Given the description of an element on the screen output the (x, y) to click on. 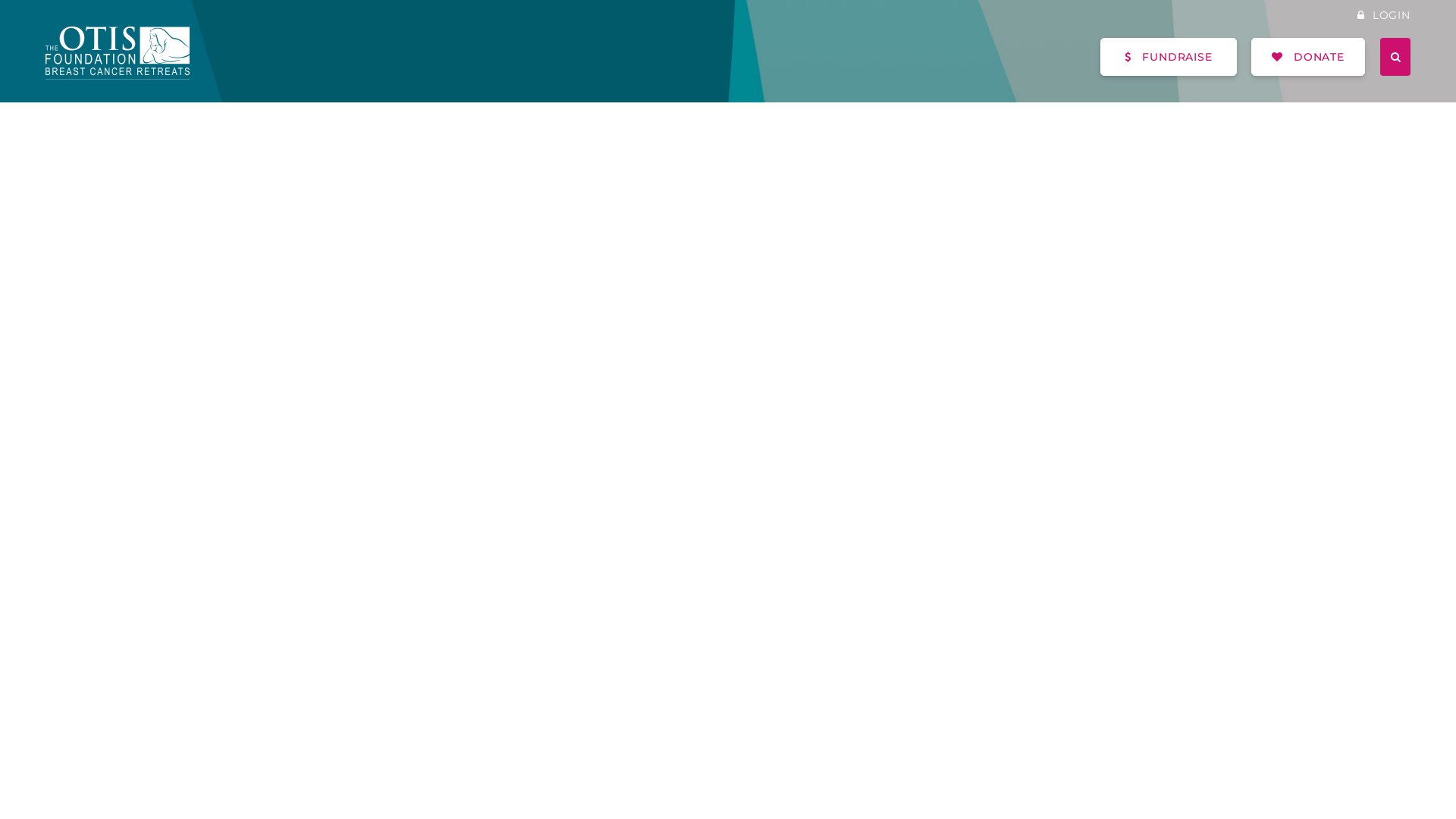
DONATE Element type: text (1308, 56)
FUNDRAISE Element type: text (1168, 56)
LOGIN Element type: text (1383, 14)
